Given the description of an element on the screen output the (x, y) to click on. 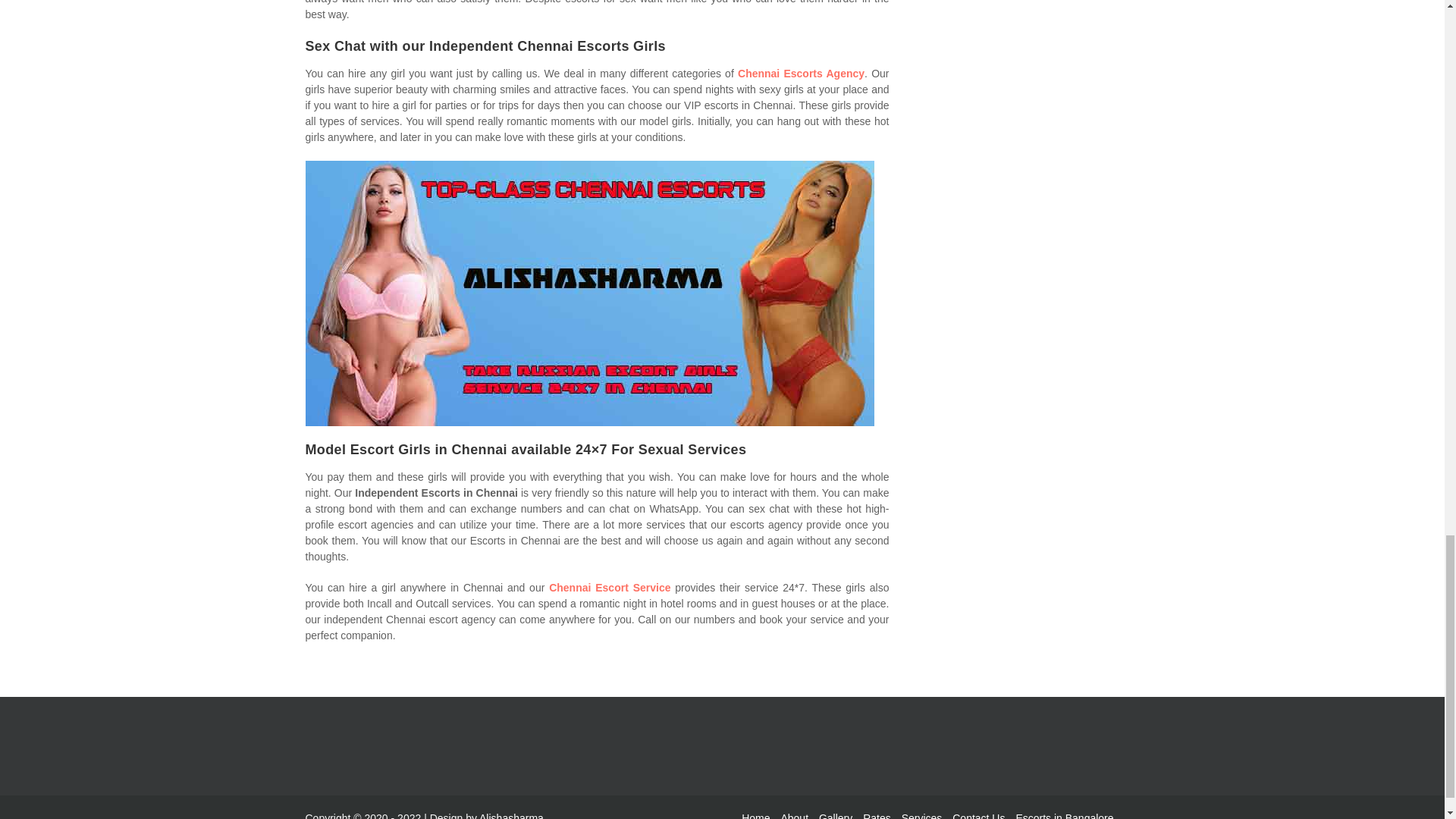
Chennai Escort Service (608, 587)
Chennai Escorts Agency (801, 73)
